Given the description of an element on the screen output the (x, y) to click on. 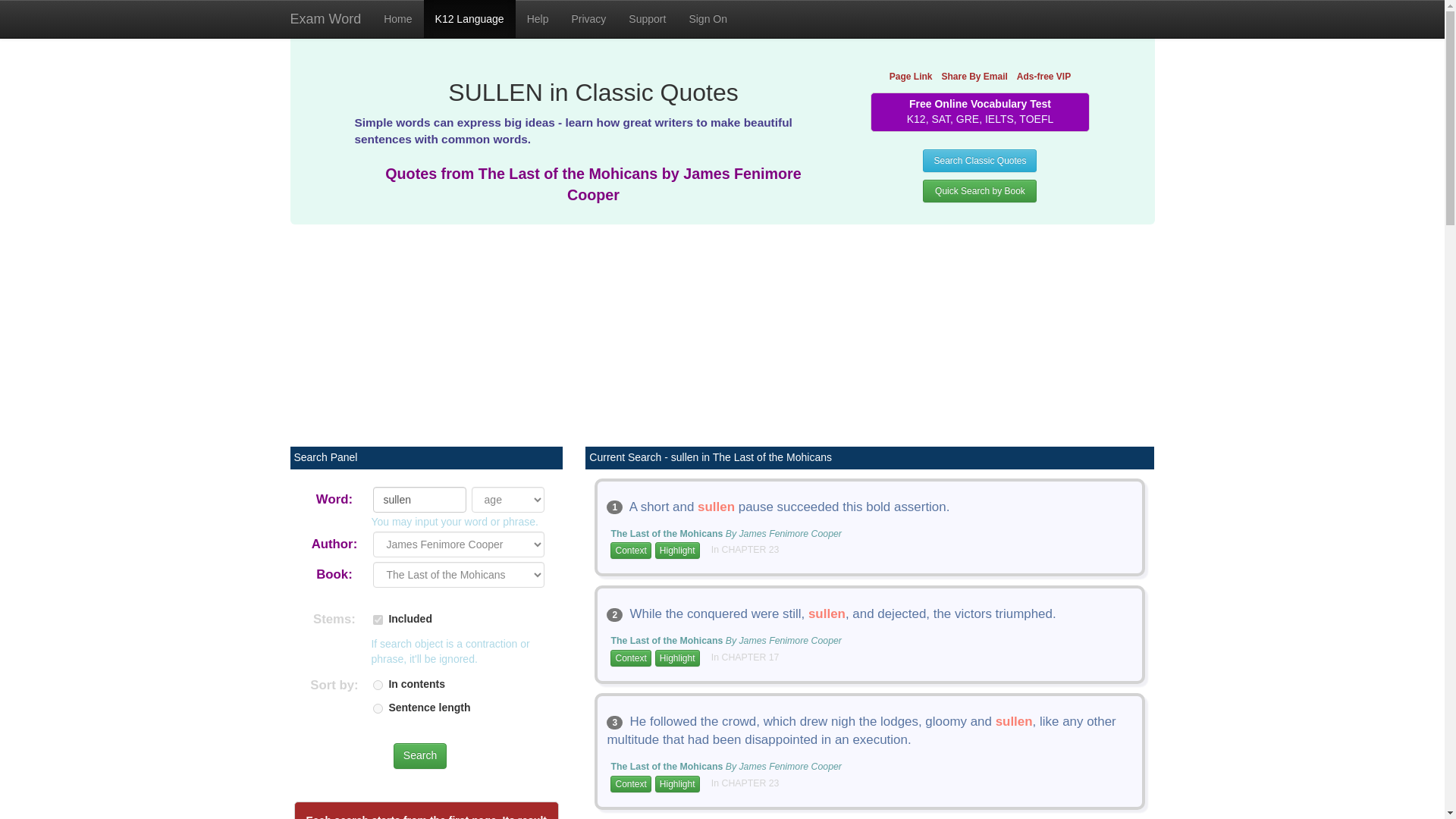
Support (647, 18)
Search Classic Quotes (979, 160)
Highlight (677, 658)
Context (630, 658)
Privacy (588, 18)
Page Link (911, 76)
Help (537, 18)
Highlight (677, 783)
K12 Language (469, 18)
Home (397, 18)
c (377, 685)
Highlight (677, 550)
sullen (418, 499)
Ads-free VIP (1043, 76)
